Given the description of an element on the screen output the (x, y) to click on. 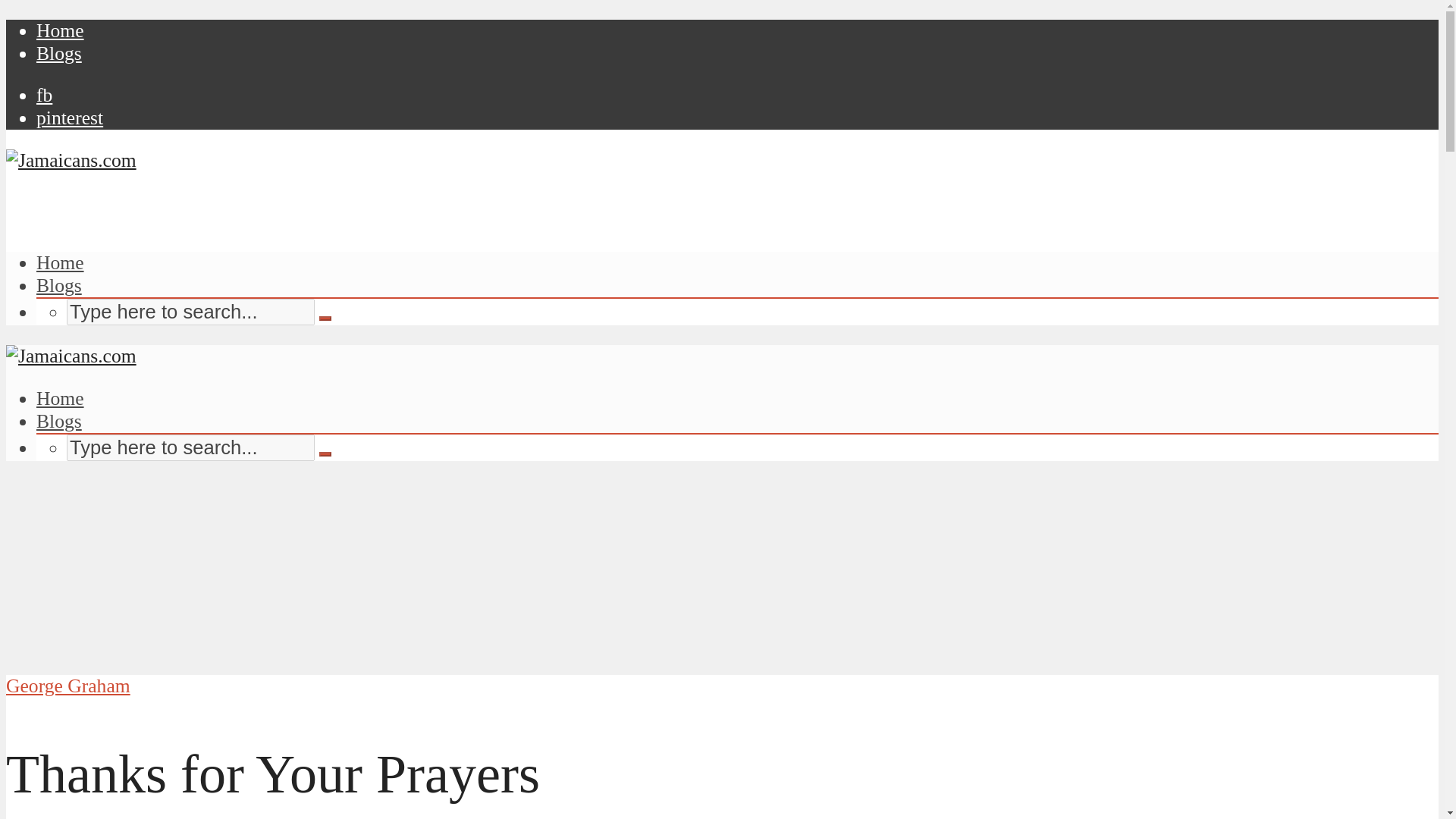
Home (60, 30)
Type here to search... (190, 447)
Blogs (58, 285)
Blogs (58, 53)
Type here to search... (190, 447)
Home (60, 262)
Home (60, 398)
George Graham (68, 685)
pinterest (69, 117)
Type here to search... (190, 311)
Type here to search... (190, 311)
Blogs (58, 421)
fb (44, 95)
